Given the description of an element on the screen output the (x, y) to click on. 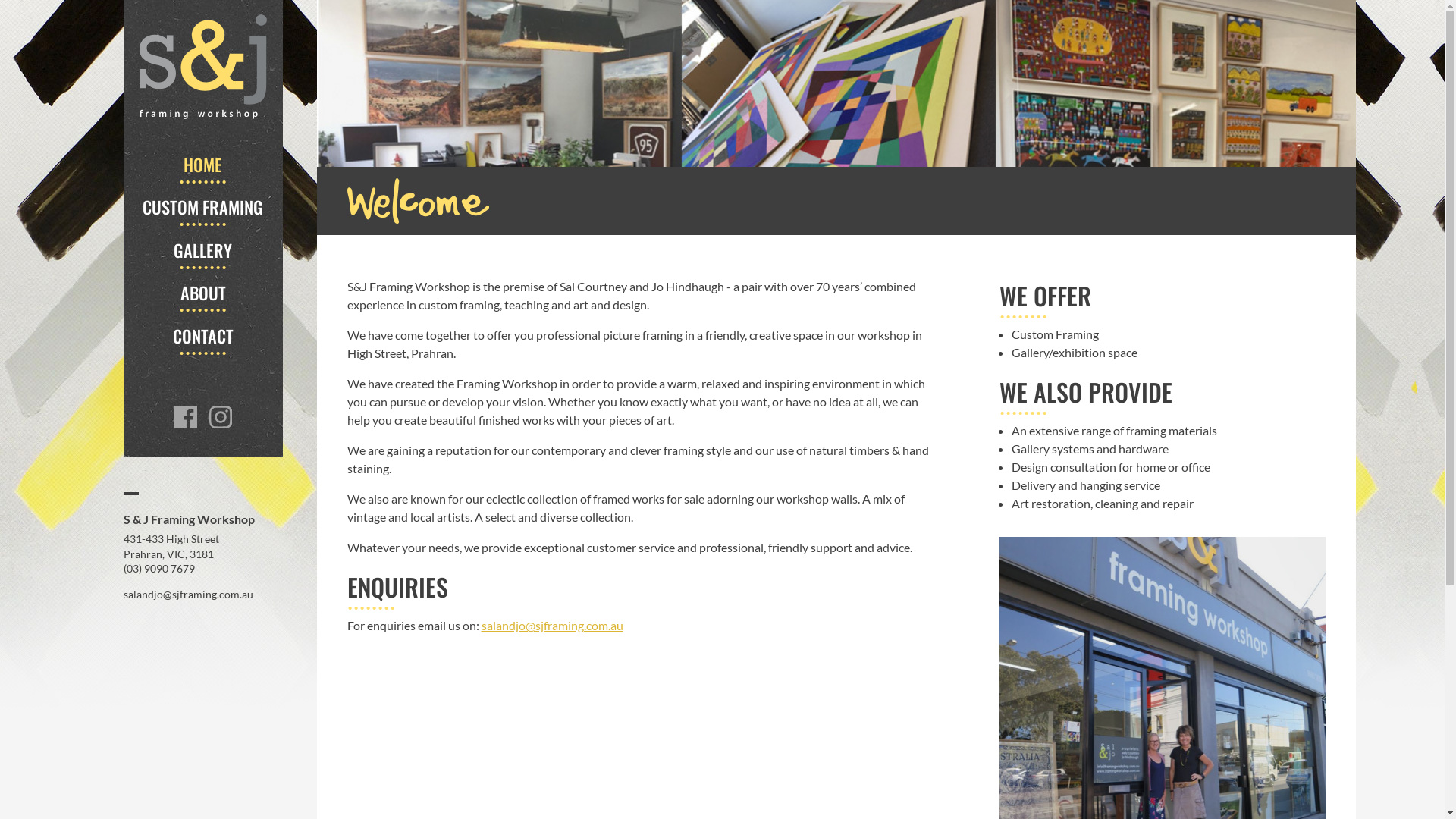
Follow us on Facebook Element type: text (220, 416)
CUSTOM FRAMING Element type: text (202, 206)
GALLERY Element type: text (202, 250)
Follow us on Facebook Element type: text (185, 416)
salandjo@sjframing.com.au Element type: text (551, 625)
CONTACT Element type: text (202, 335)
(03) 9090 7679 Element type: text (158, 567)
HOME Element type: text (202, 164)
ABOUT Element type: text (202, 292)
salandjo@sjframing.com.au Element type: text (187, 593)
